Given the description of an element on the screen output the (x, y) to click on. 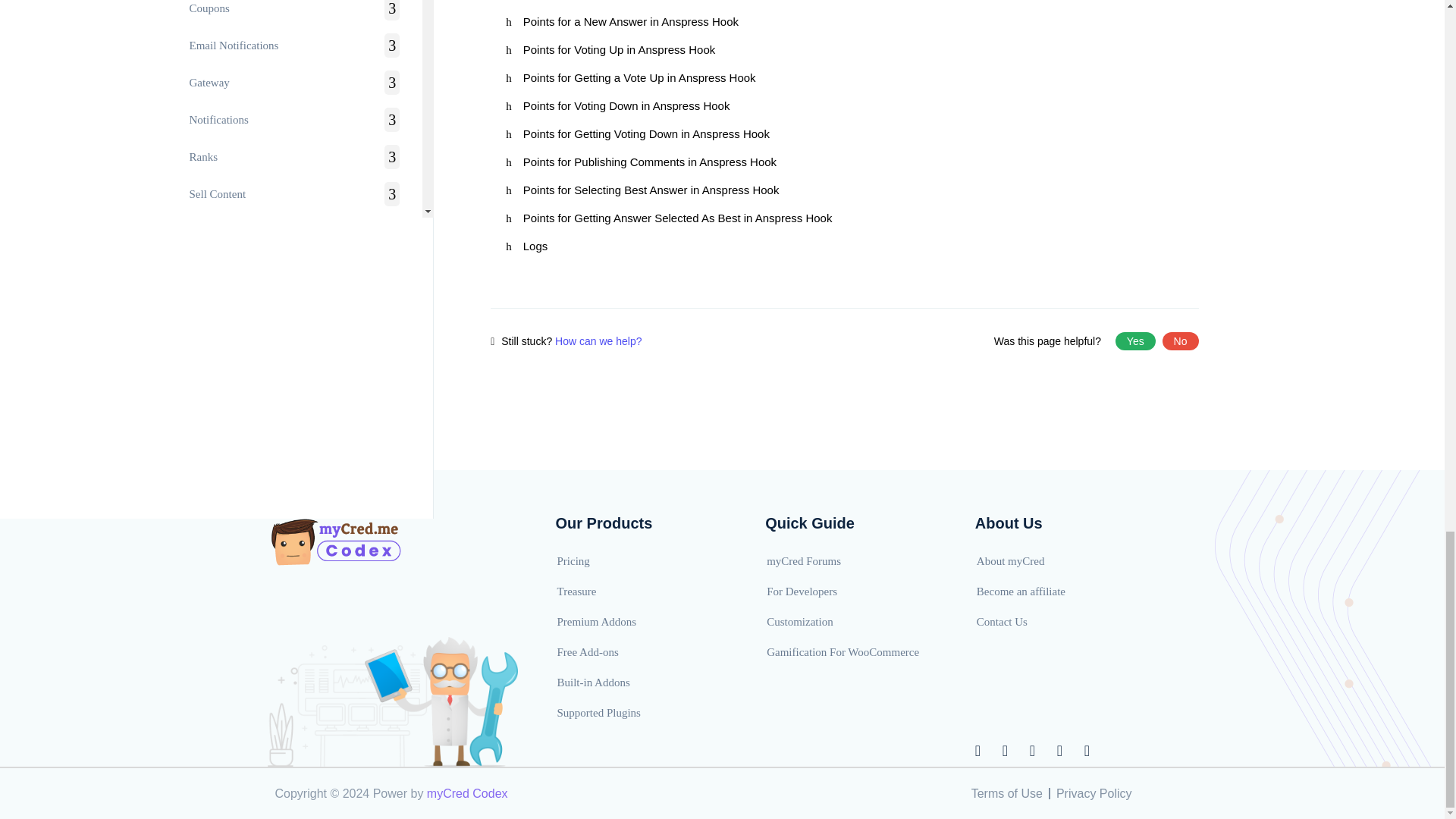
No votes yet (1179, 341)
No votes yet (1135, 341)
